Given the description of an element on the screen output the (x, y) to click on. 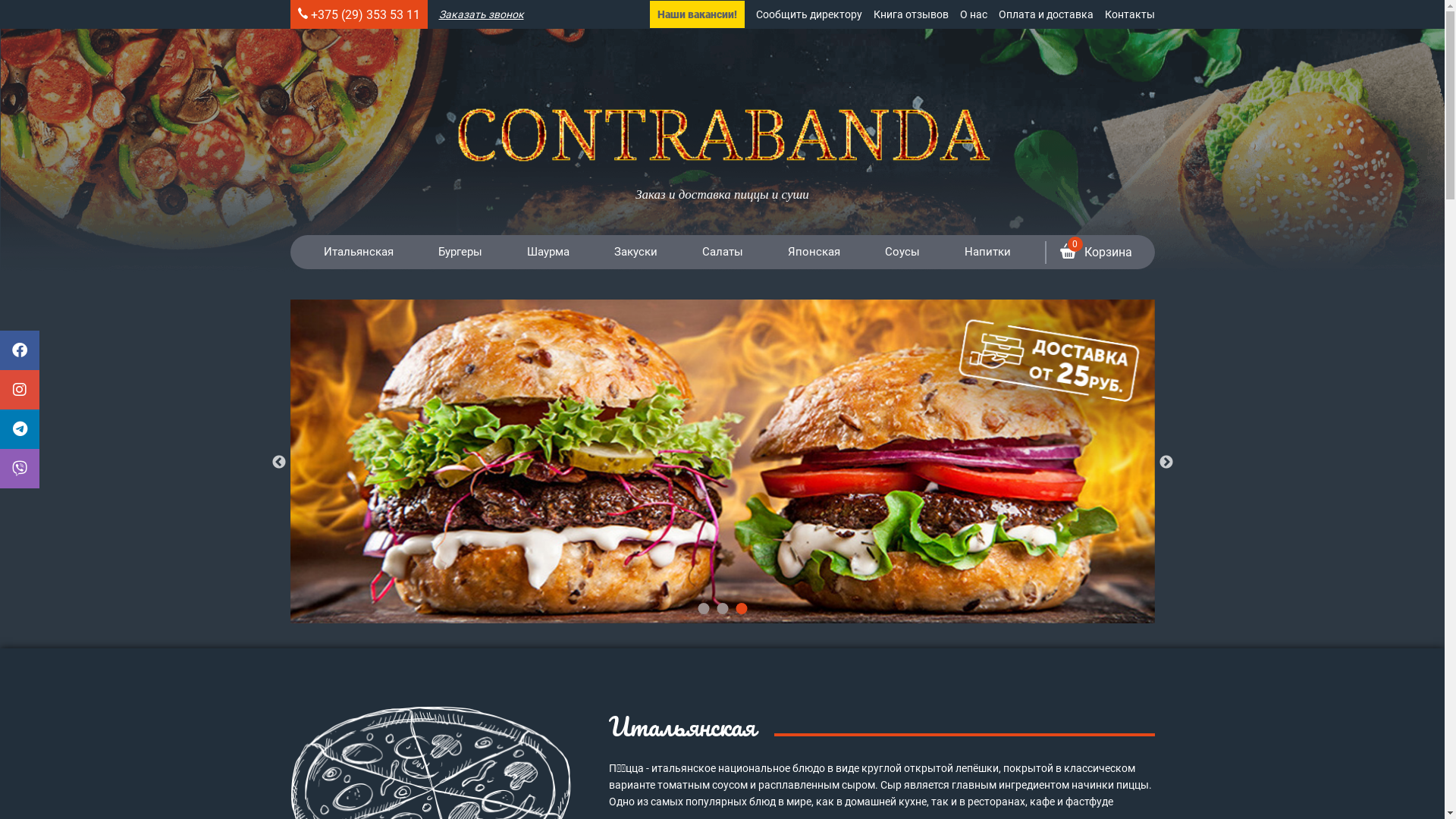
2 Element type: text (722, 608)
+375 (29) 353 53 11 Element type: text (365, 14)
3 Element type: text (740, 608)
1 Element type: text (703, 608)
Next Element type: text (1165, 462)
Previous Element type: text (278, 462)
